Given the description of an element on the screen output the (x, y) to click on. 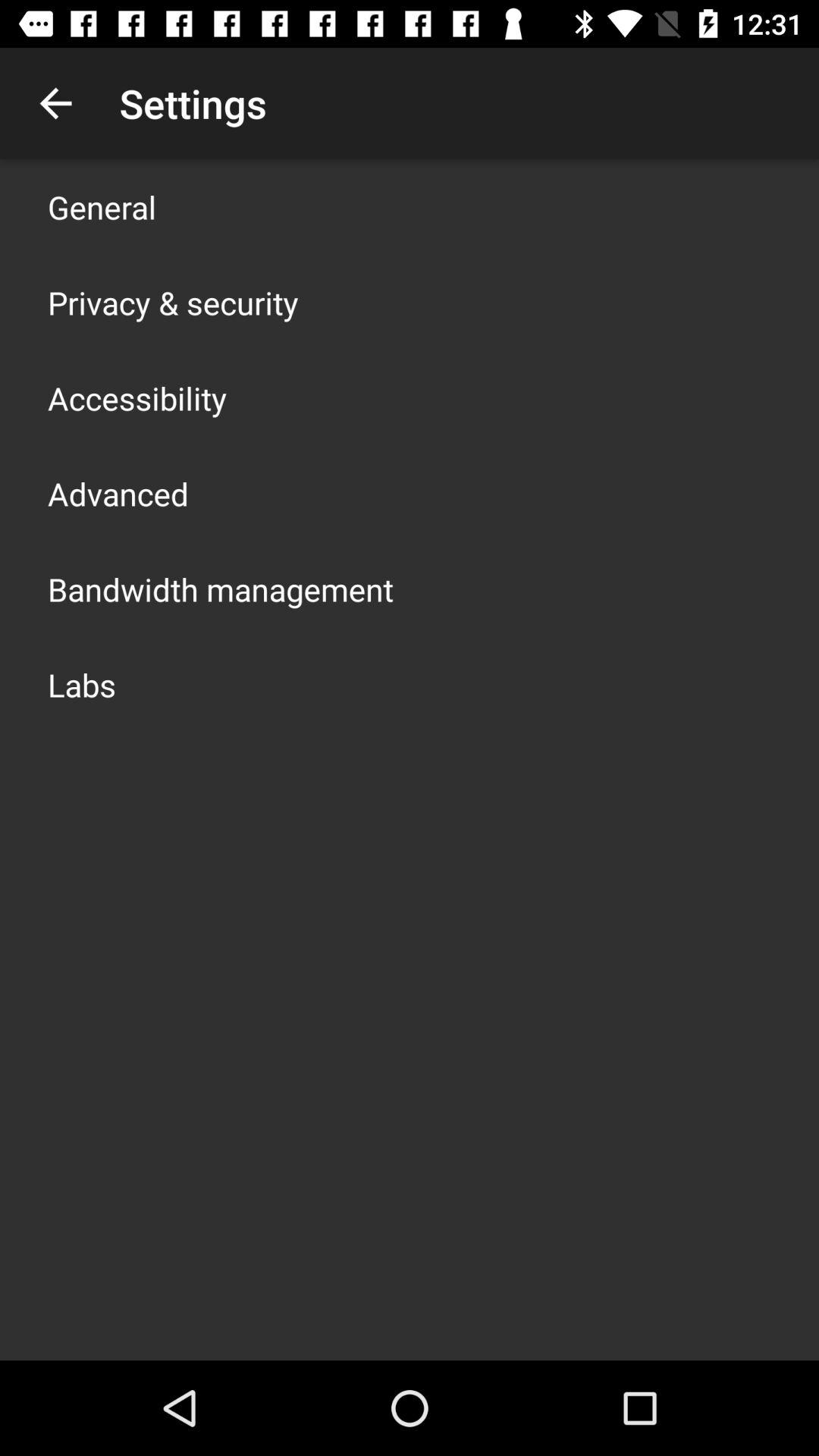
choose icon above the privacy & security app (101, 206)
